Given the description of an element on the screen output the (x, y) to click on. 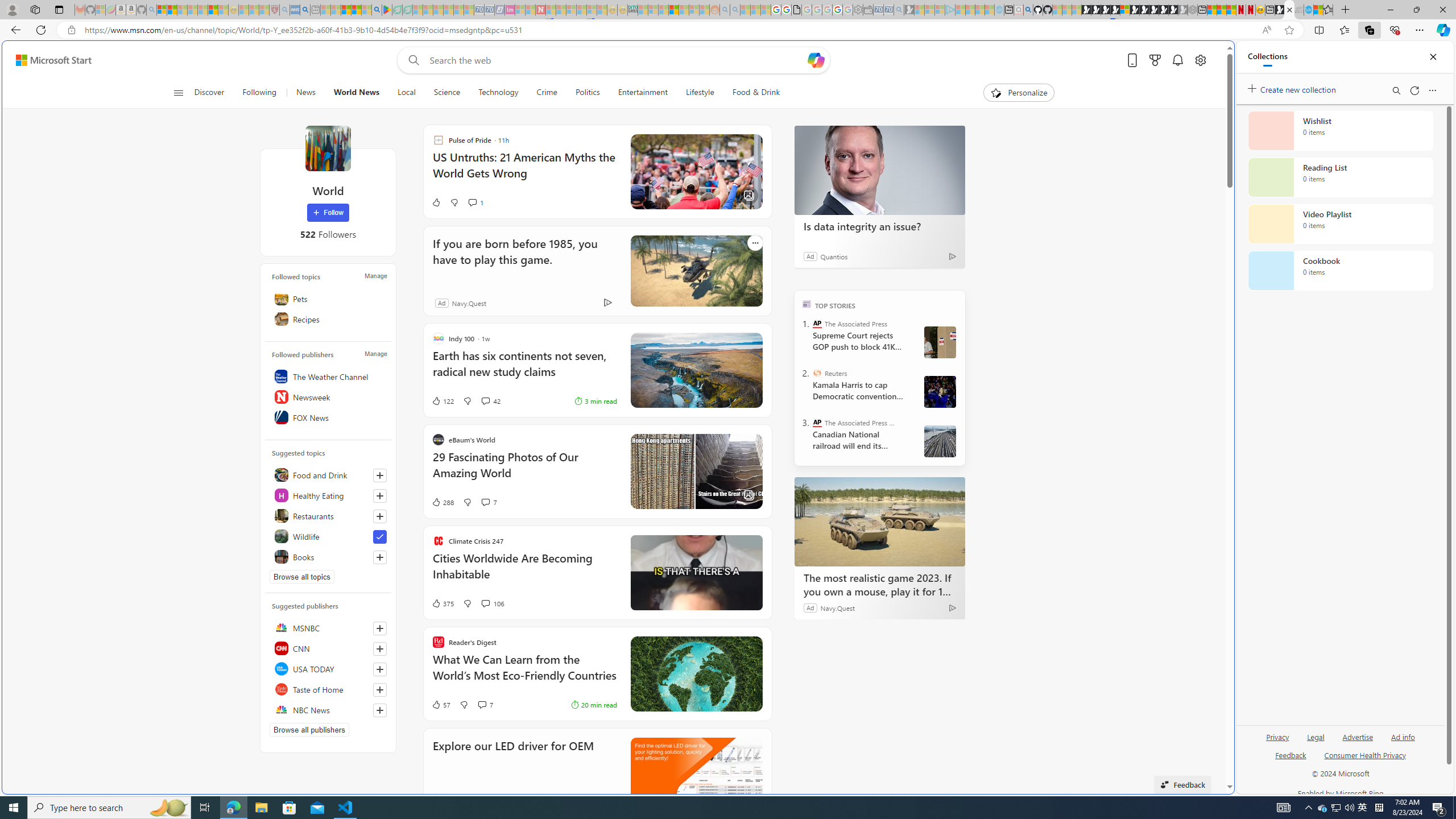
 Canada Railroads Unions (940, 441)
Bluey: Let's Play! - Apps on Google Play (387, 9)
 Harris and Walz campaign in Wisconsin (940, 391)
